Given the description of an element on the screen output the (x, y) to click on. 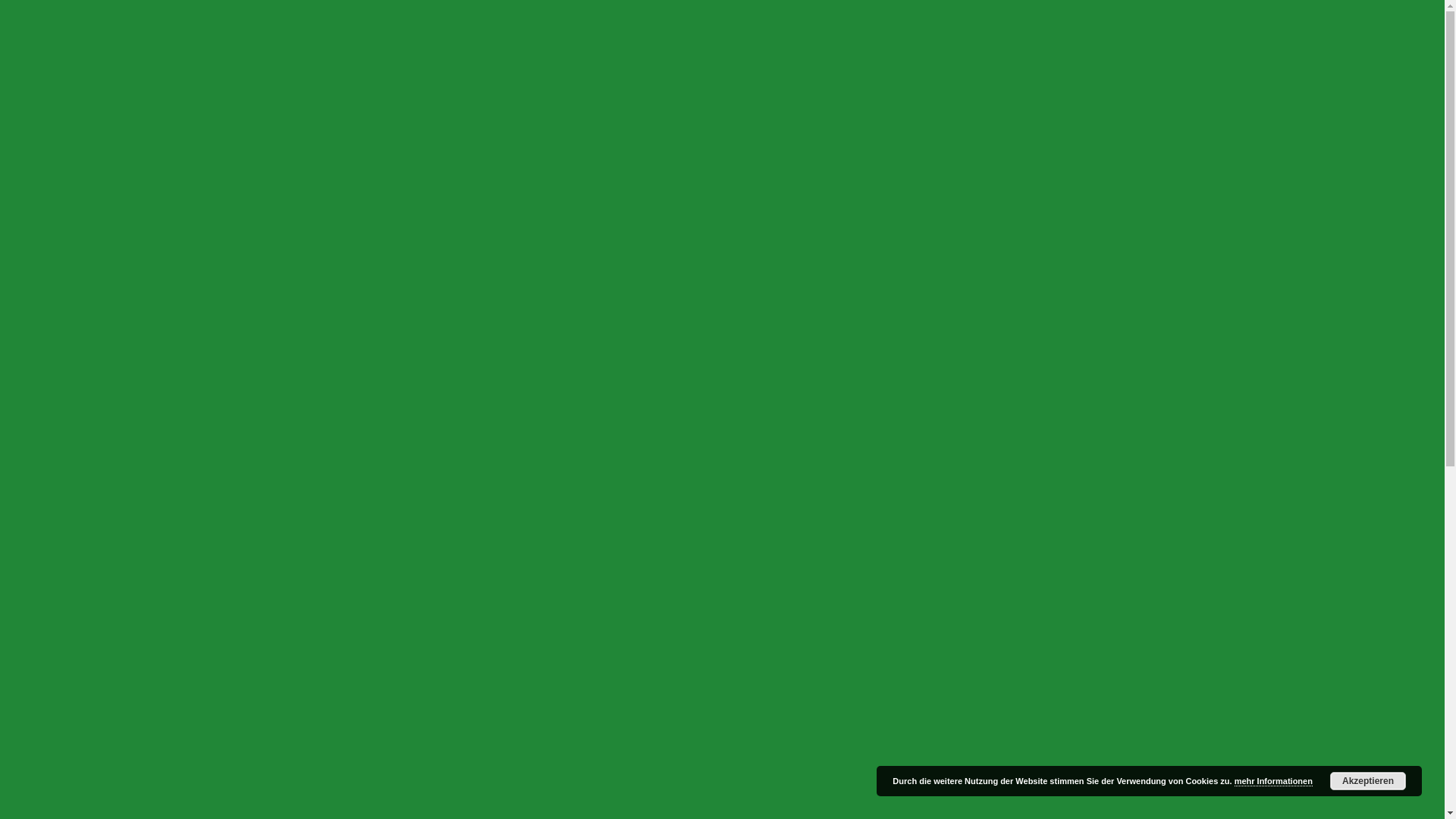
Netzwerk Element type: text (89, 106)
Angebot Element type: text (57, 78)
mehr Informationen Element type: text (1273, 781)
Akzeptieren Element type: text (1367, 780)
Kontakt Element type: text (55, 119)
Impressionen Element type: text (68, 133)
Zum Inhalt springen Element type: text (55, 12)
